Given the description of an element on the screen output the (x, y) to click on. 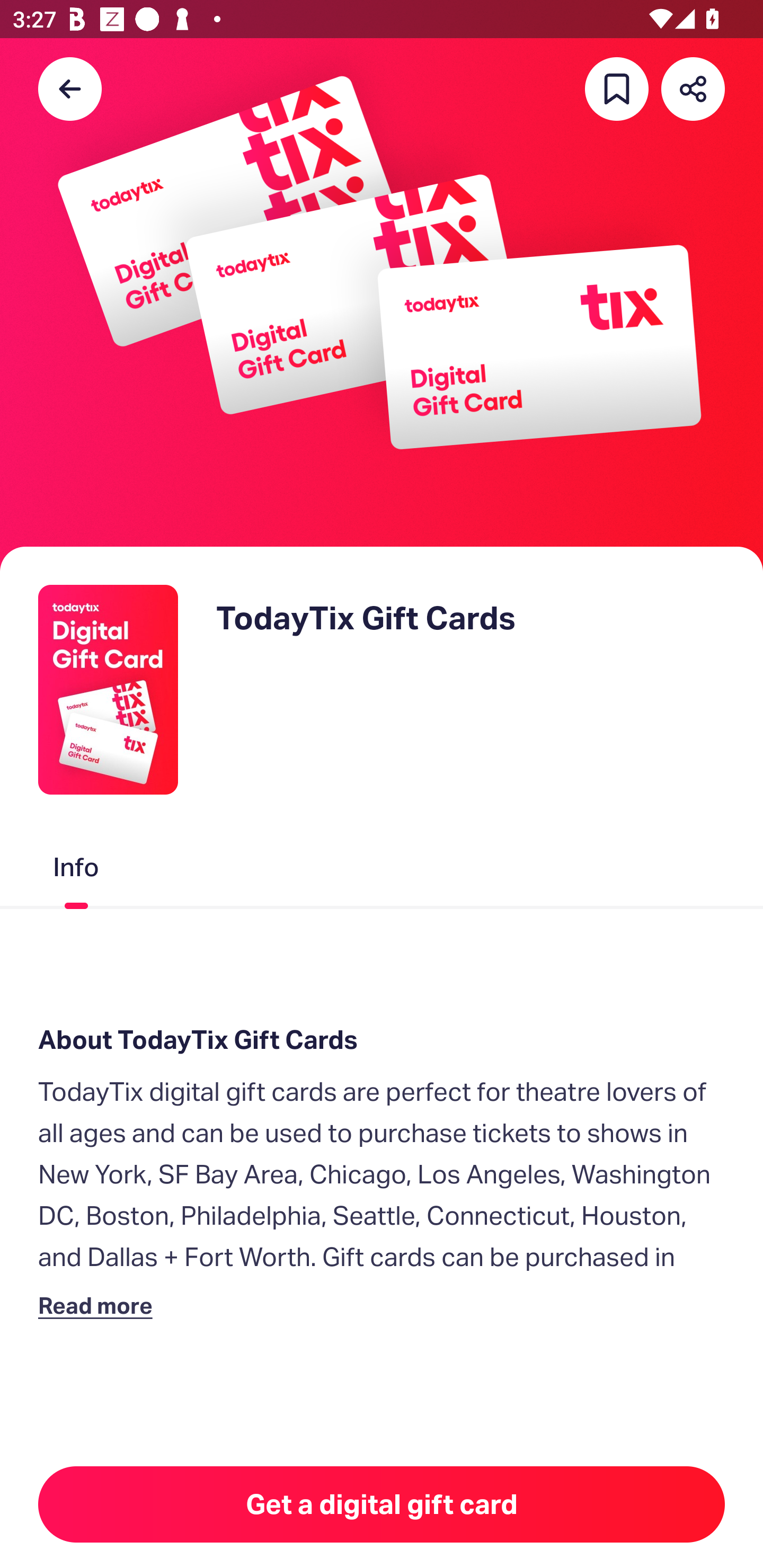
About TodayTix Gift Cards (381, 1039)
Read more (99, 1305)
Get a digital gift card (381, 1504)
